Given the description of an element on the screen output the (x, y) to click on. 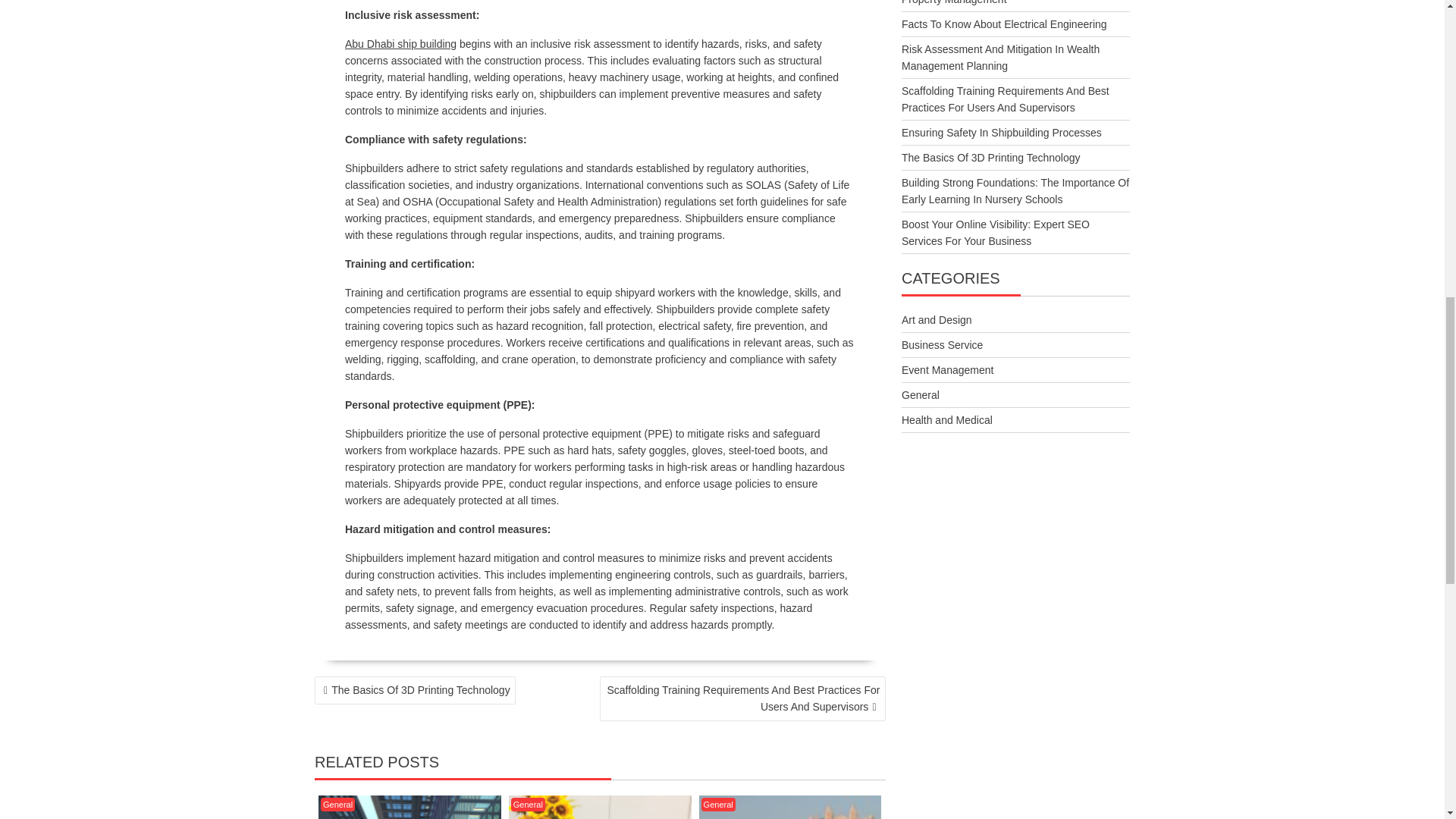
Abu Dhabi ship building (401, 43)
The Basics Of 3D Printing Technology (414, 690)
General (337, 804)
General (527, 804)
